Given the description of an element on the screen output the (x, y) to click on. 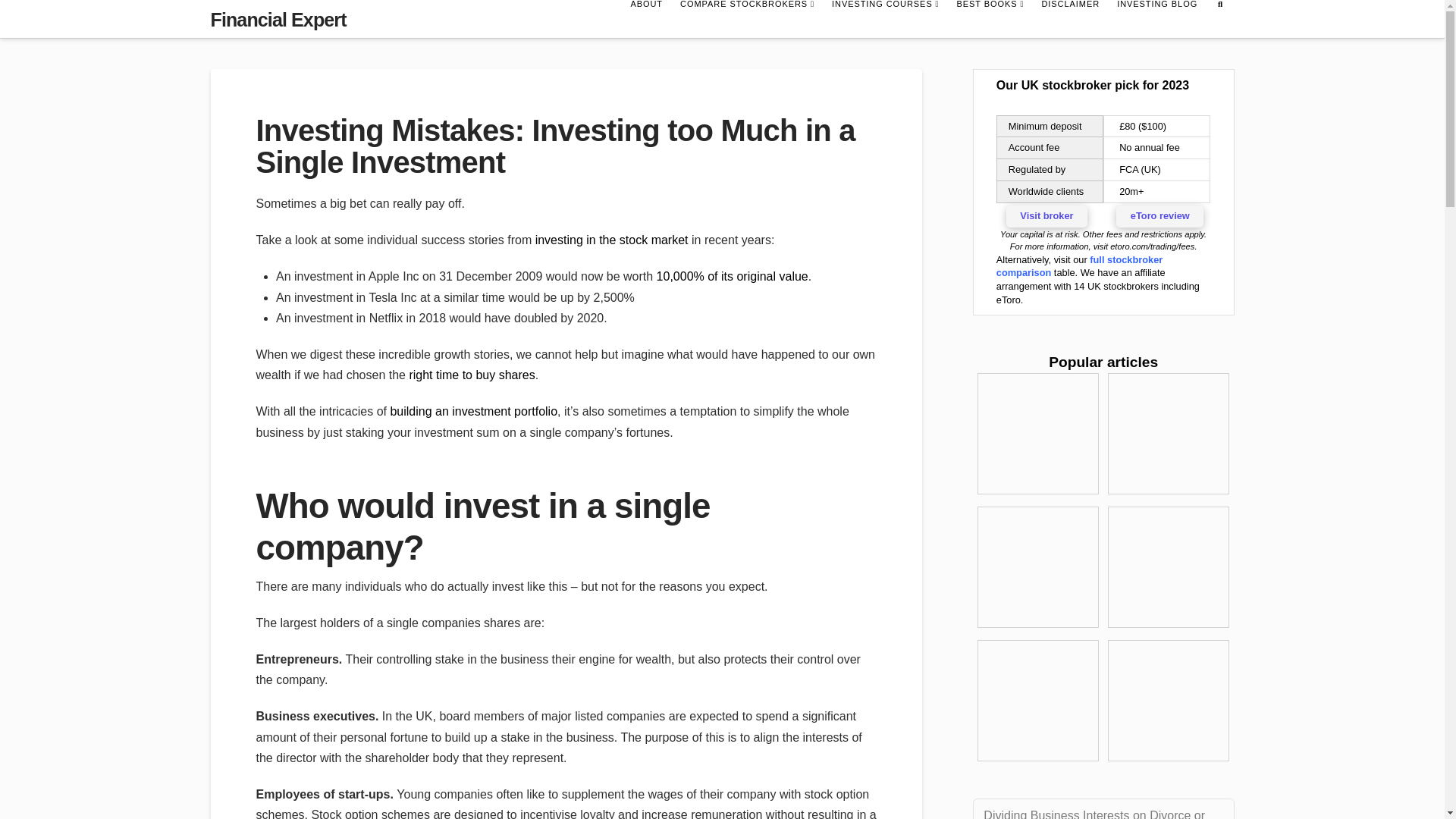
BEST BOOKS (989, 18)
COMPARE STOCKBROKERS (746, 18)
ABOUT (646, 18)
INVESTING COURSES (884, 18)
Financial Expert (278, 19)
